Given the description of an element on the screen output the (x, y) to click on. 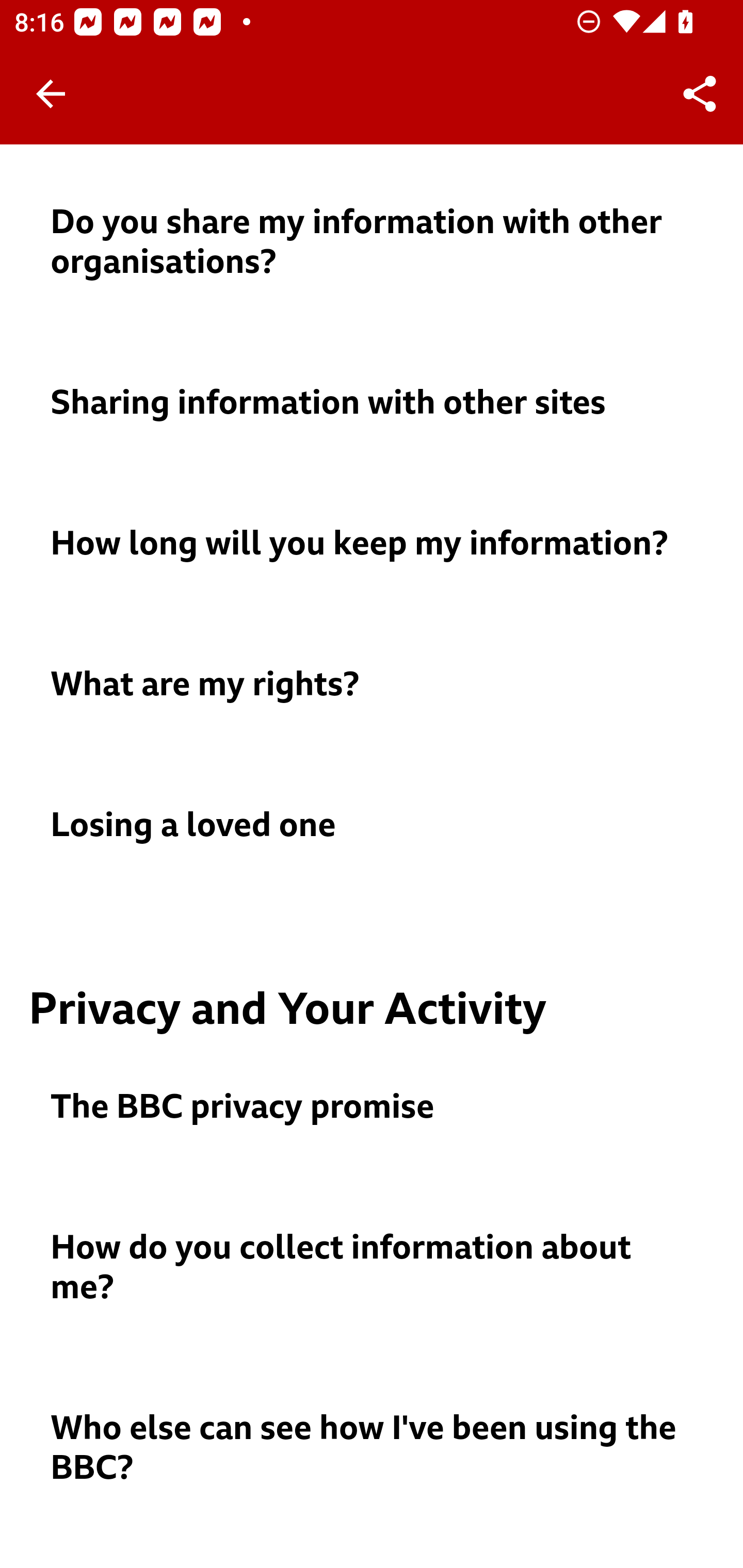
Back (50, 93)
Share (699, 93)
Sharing information with other sites (372, 402)
How long will you keep my information? (372, 543)
What are my rights? (372, 684)
Losing a loved one (372, 825)
The BBC privacy promise (372, 1106)
How do you collect information about me? (372, 1268)
Who else can see how I've been using the BBC? (372, 1448)
